Given the description of an element on the screen output the (x, y) to click on. 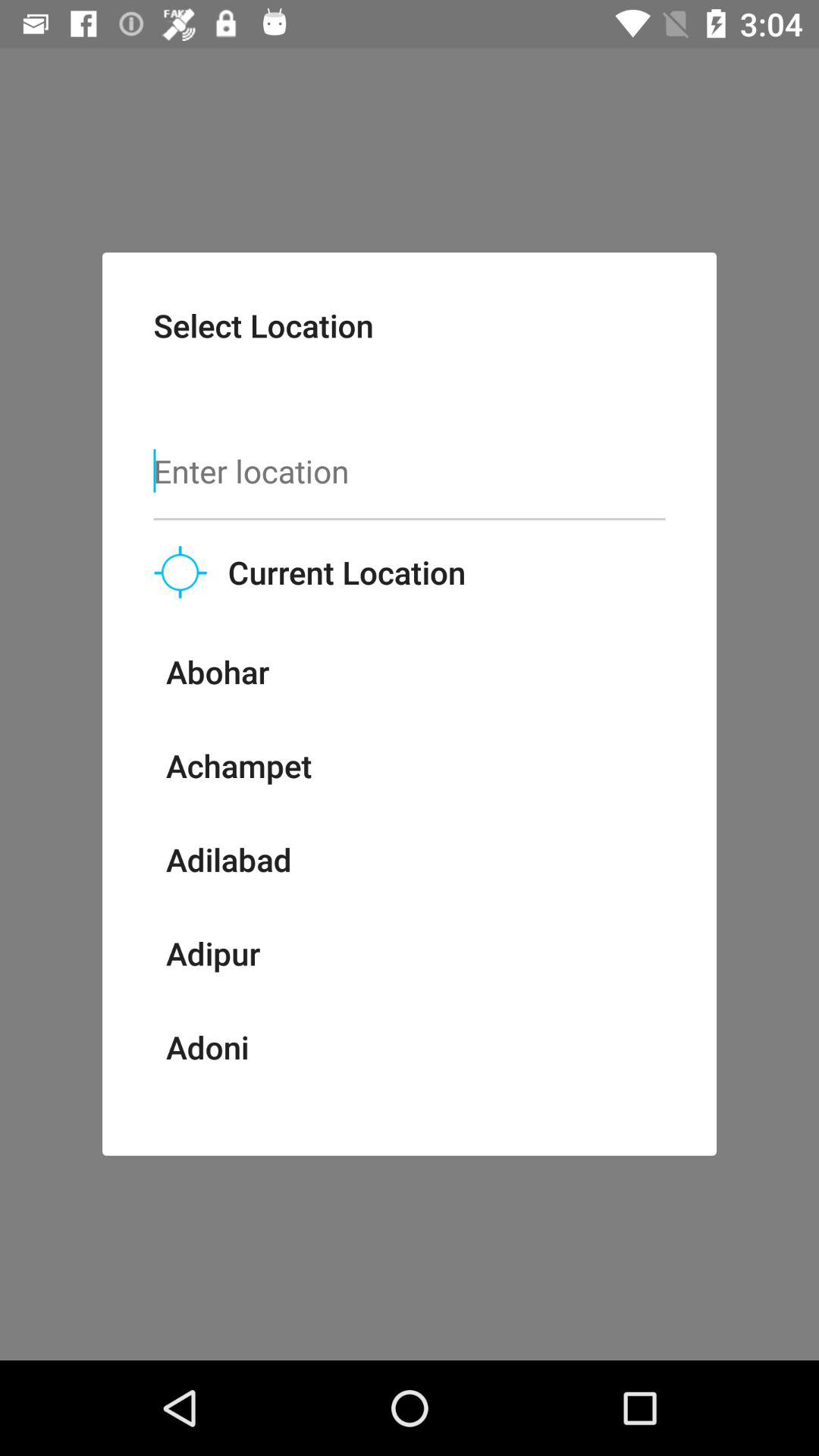
open the item below adoni (199, 1111)
